Given the description of an element on the screen output the (x, y) to click on. 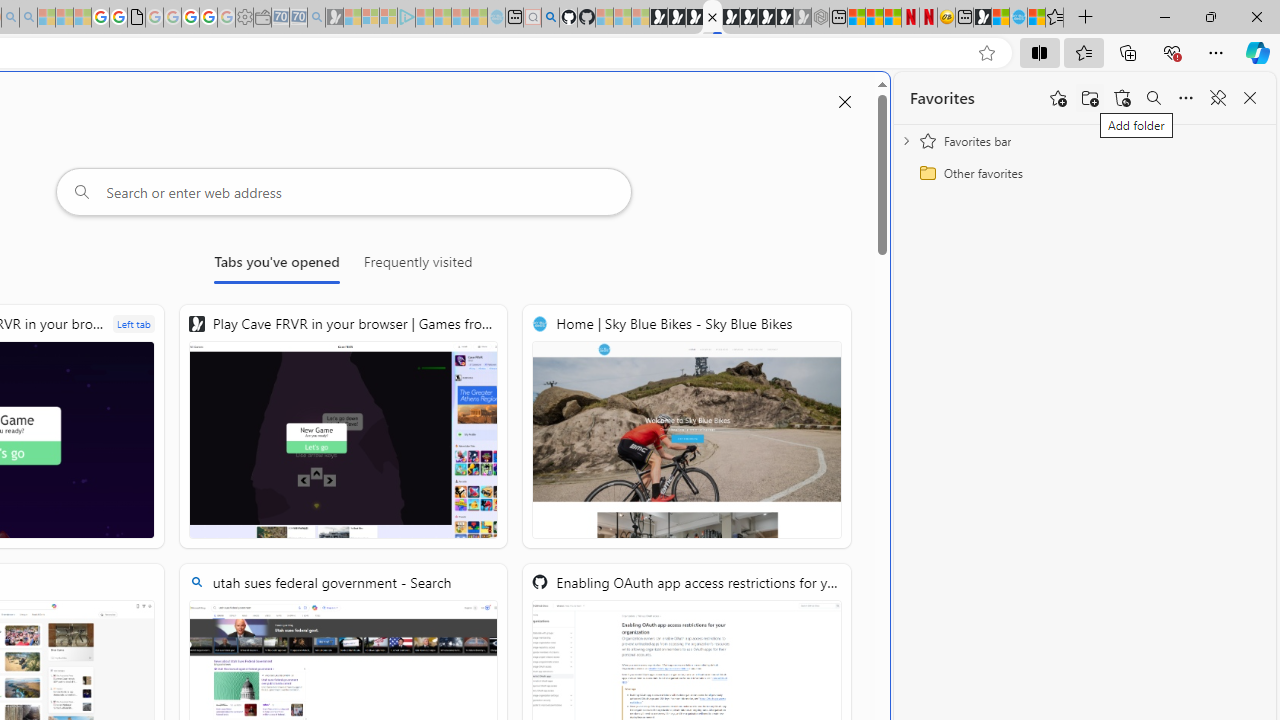
Tabs you've opened (276, 265)
Search or enter web address (343, 191)
Restore deleted favorites (1122, 98)
Search favorites (1153, 98)
github - Search (550, 17)
